Given the description of an element on the screen output the (x, y) to click on. 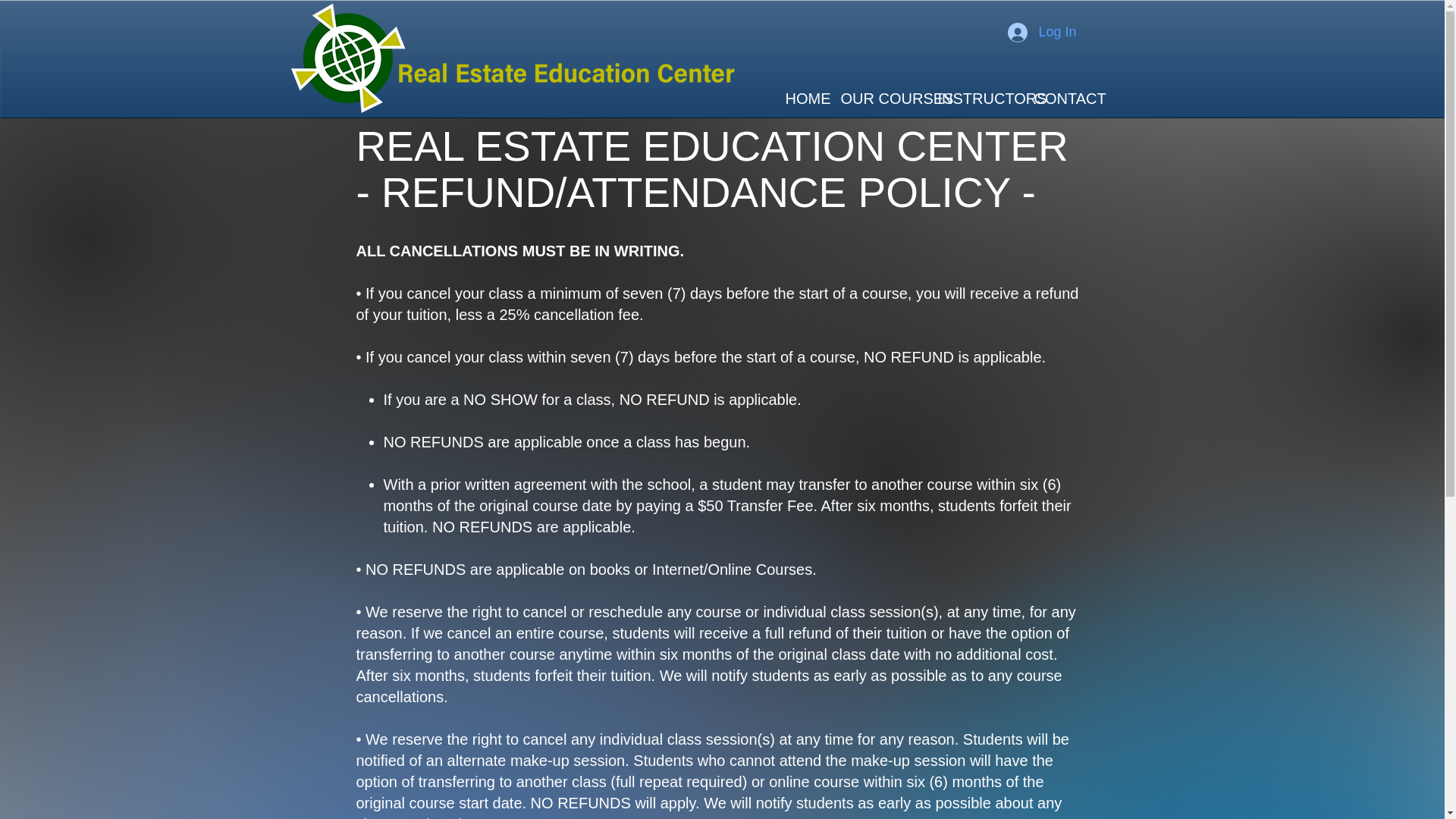
HOME (800, 97)
CONTACT (1057, 97)
OUR COURSES (877, 97)
Log In (1041, 32)
INSTRUCTORS (974, 97)
